Given the description of an element on the screen output the (x, y) to click on. 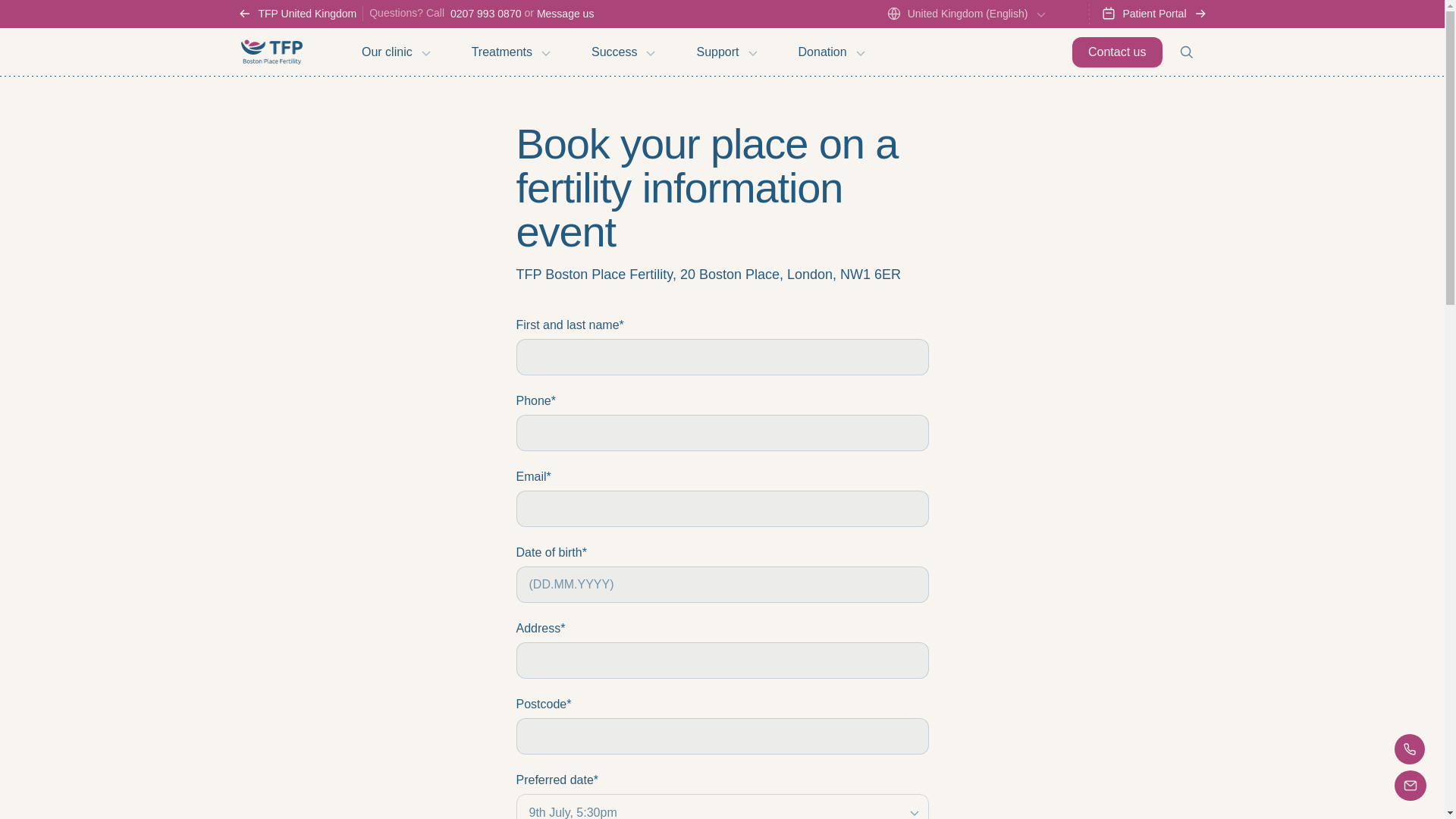
0207 993 0870 (485, 13)
Treatments (509, 51)
Our clinic (395, 51)
Contact us (1116, 51)
Patient Portal (1153, 13)
TFP United Kingdom (298, 13)
Message us (565, 13)
Donation (830, 51)
Support (724, 51)
Success (621, 51)
